Given the description of an element on the screen output the (x, y) to click on. 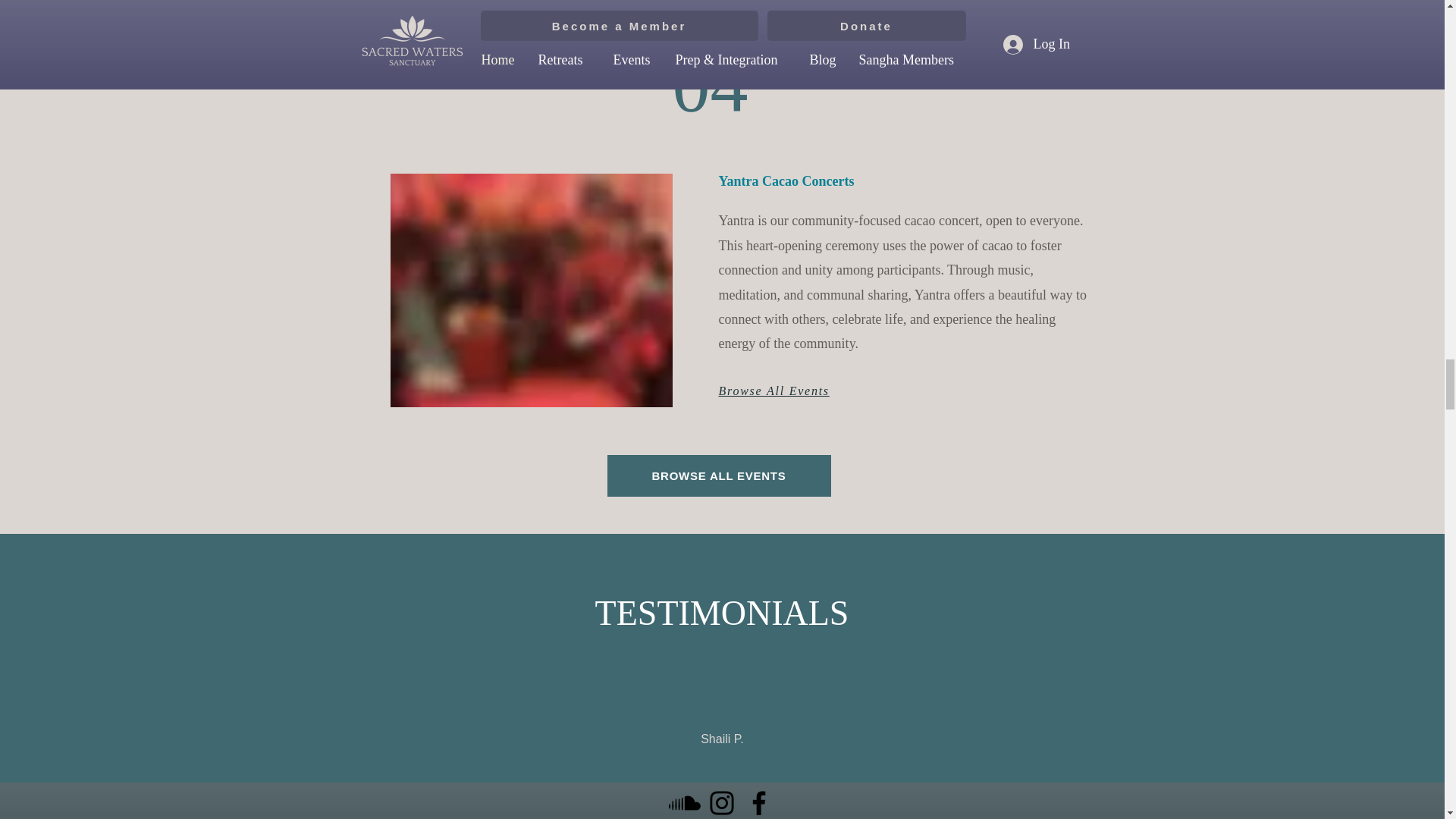
BROWSE ALL EVENTS (718, 475)
Browse All Events (774, 390)
Shaili P. (722, 738)
